Given the description of an element on the screen output the (x, y) to click on. 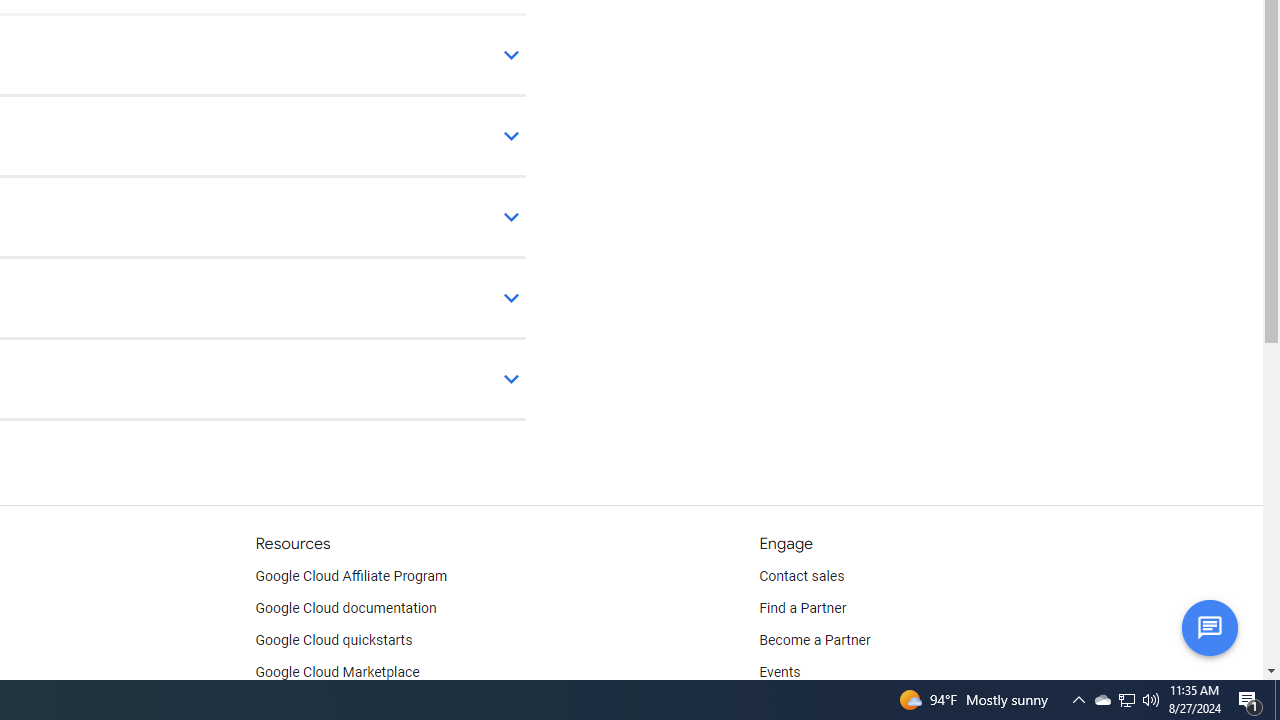
Google Cloud quickstarts (333, 640)
Events (780, 672)
Button to activate chat (1209, 627)
Google Cloud documentation (345, 608)
Contact sales (801, 576)
Google Cloud Marketplace (336, 672)
Google Cloud Affiliate Program (351, 576)
Become a Partner (814, 640)
Find a Partner (803, 608)
